Given the description of an element on the screen output the (x, y) to click on. 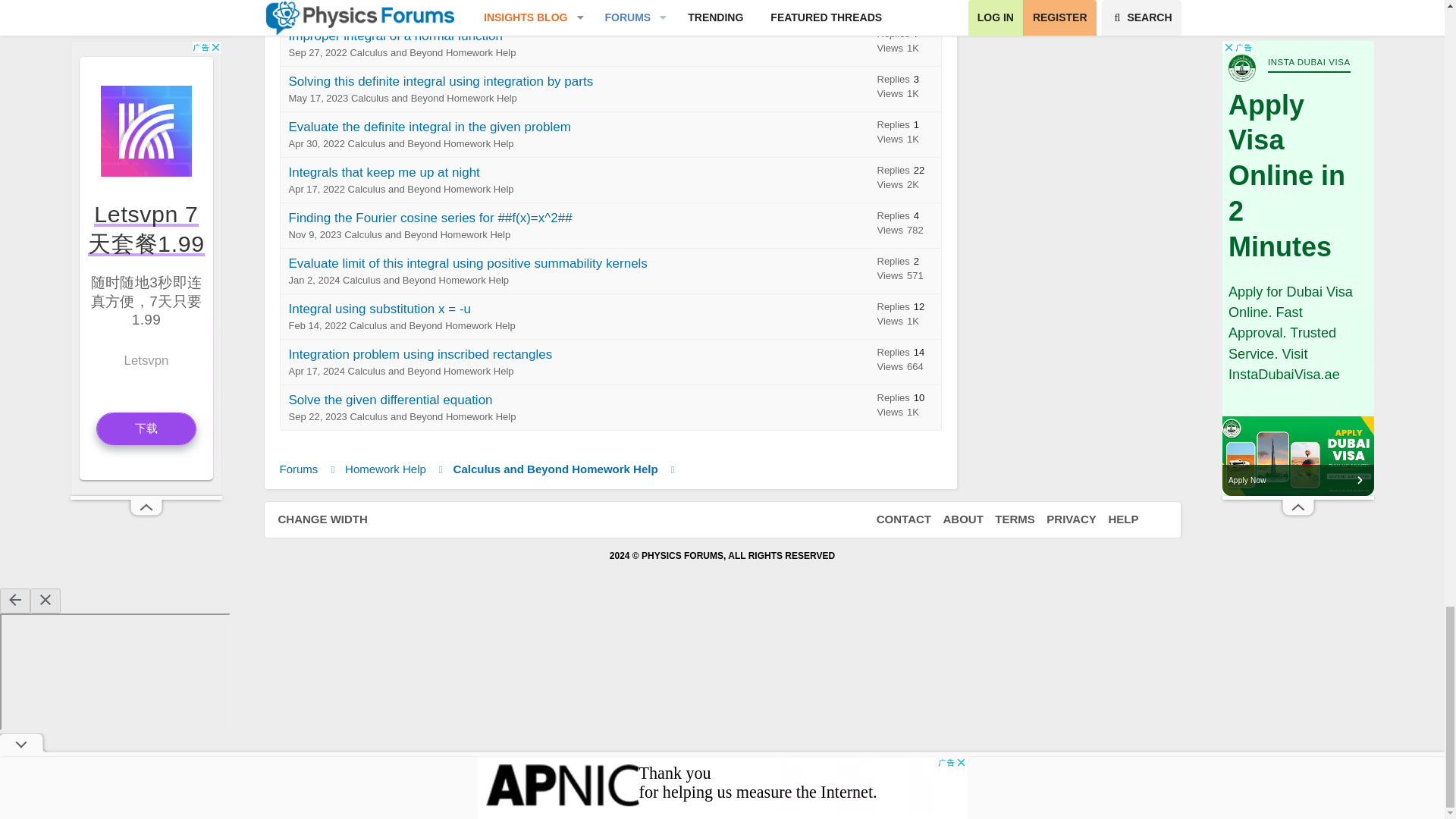
First message reaction score: 0 (904, 43)
May 17, 2023 at 11:07 AM (317, 98)
First message reaction score: 0 (904, 88)
First message reaction score: 0 (904, 10)
Jun 27, 2023 at 11:49 AM (316, 7)
Sep 27, 2022 at 3:56 PM (317, 52)
